Given the description of an element on the screen output the (x, y) to click on. 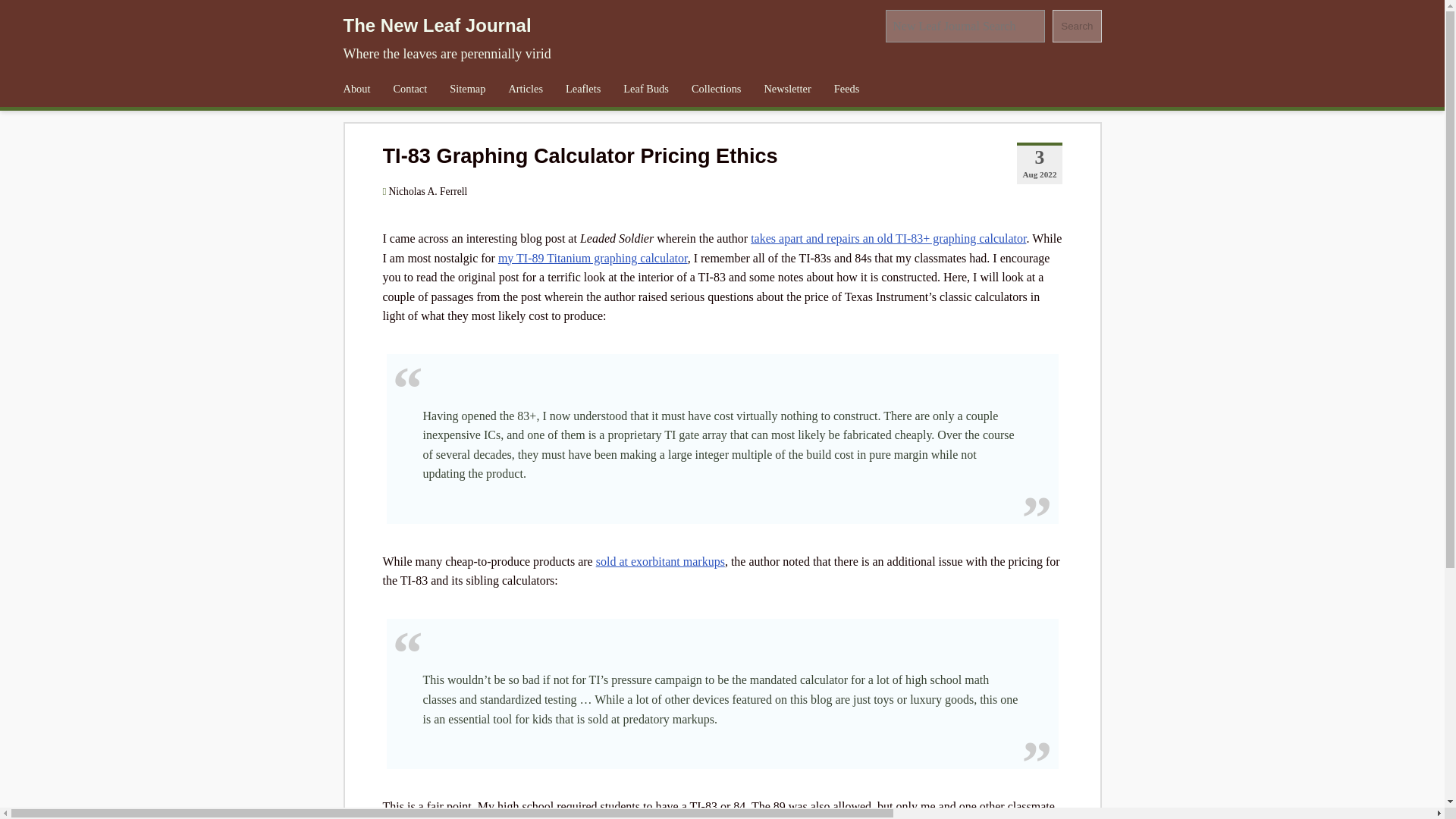
Leaflets (582, 89)
Collections (715, 89)
Feeds (846, 89)
Nicholas A. Ferrell (427, 191)
Contact (409, 89)
The New Leaf Journal (436, 25)
Leaf Buds (645, 89)
Search (1076, 26)
my TI-89 Titanium graphing calculator (592, 257)
Newsletter (787, 89)
sold at exorbitant markups (660, 561)
About (356, 89)
Sitemap (467, 89)
Articles (525, 89)
The New Leaf Journal (436, 25)
